Given the description of an element on the screen output the (x, y) to click on. 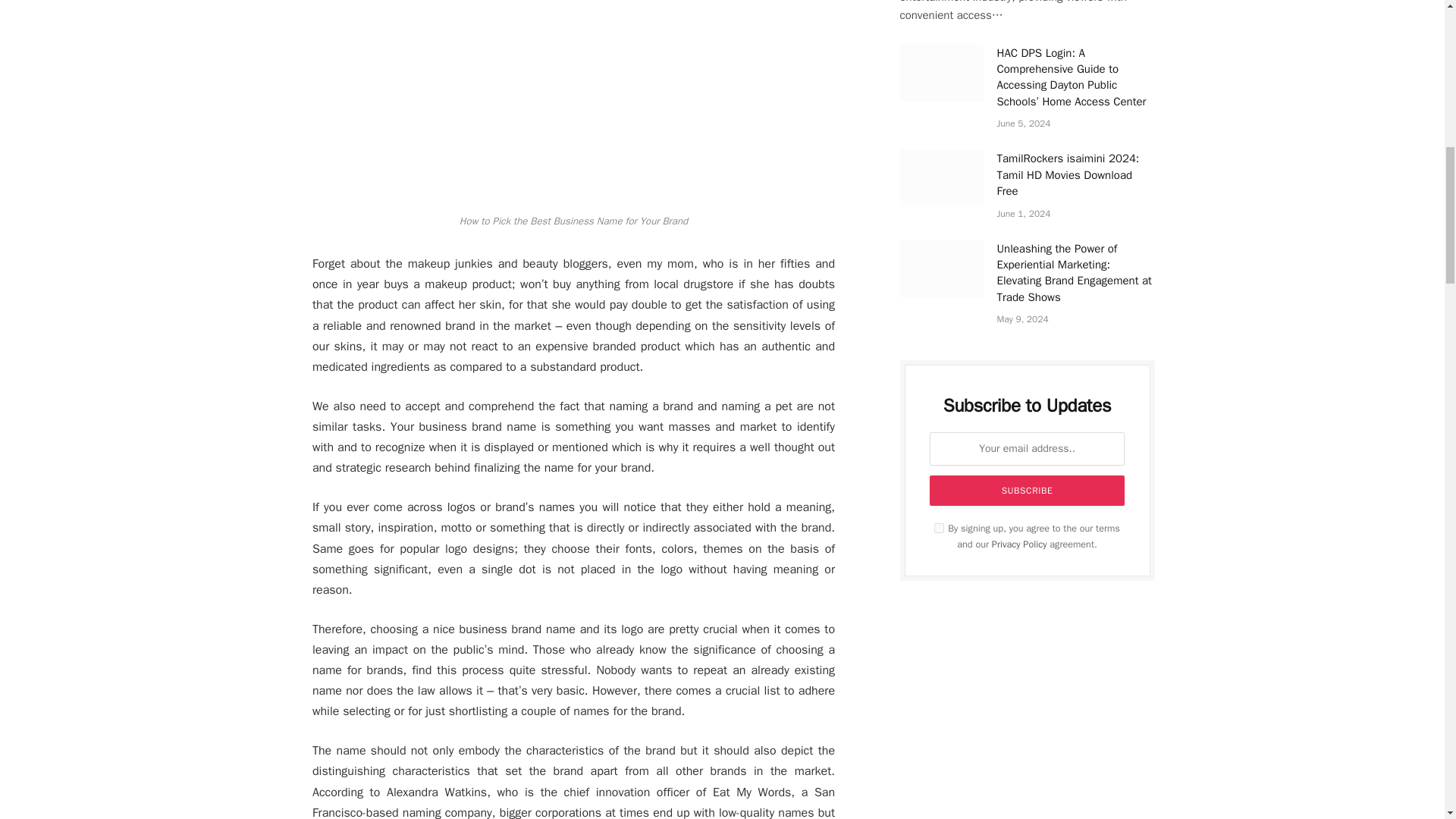
on (938, 528)
Subscribe (1027, 490)
